Given the description of an element on the screen output the (x, y) to click on. 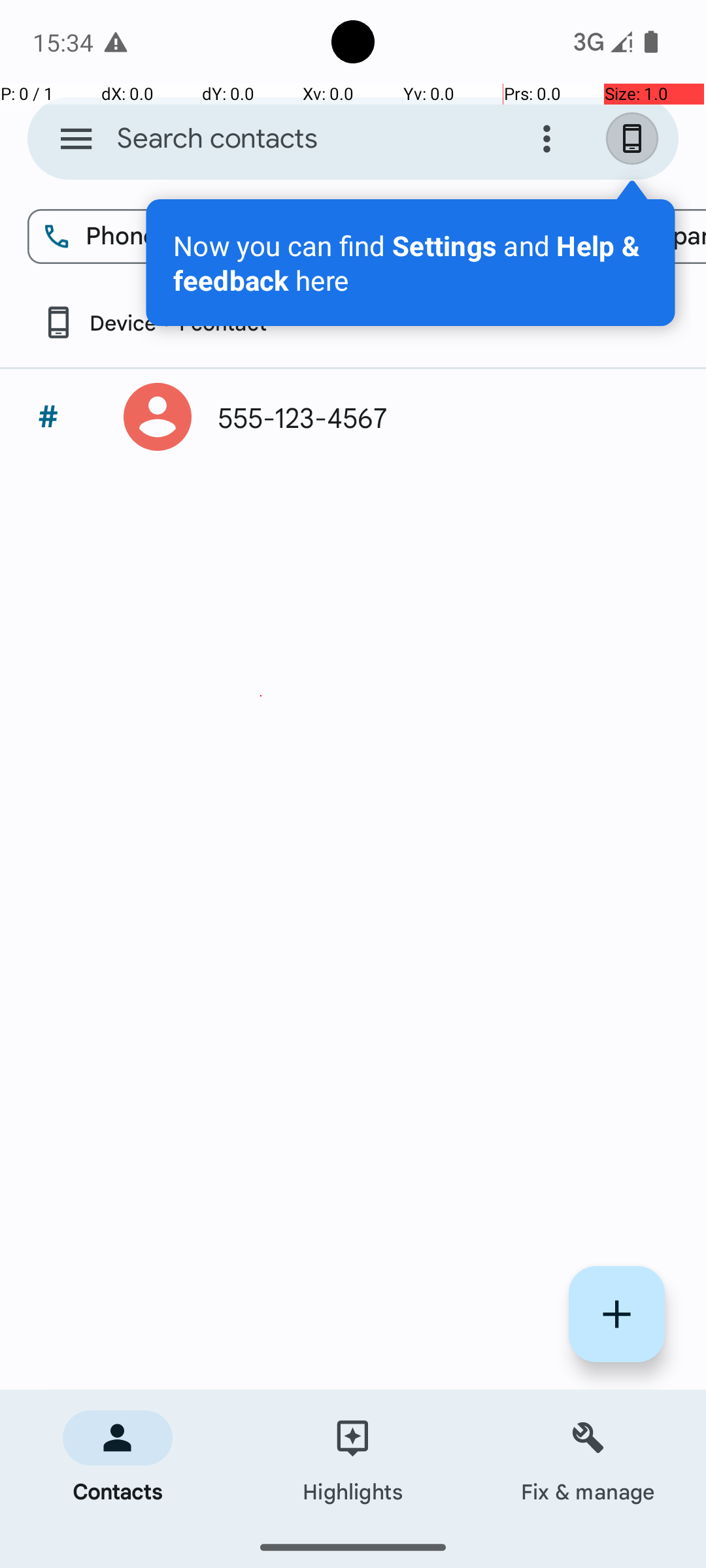
Device • 1 contact Element type: android.widget.TextView (153, 322)
555-123-4567 Element type: android.widget.TextView (434, 416)
Now you can find Settings and Help & feedback here
Open account and settings. Element type: android.view.ViewGroup (409, 262)
Now you can find Settings and Help & feedback here Element type: android.widget.TextView (410, 262)
